Given the description of an element on the screen output the (x, y) to click on. 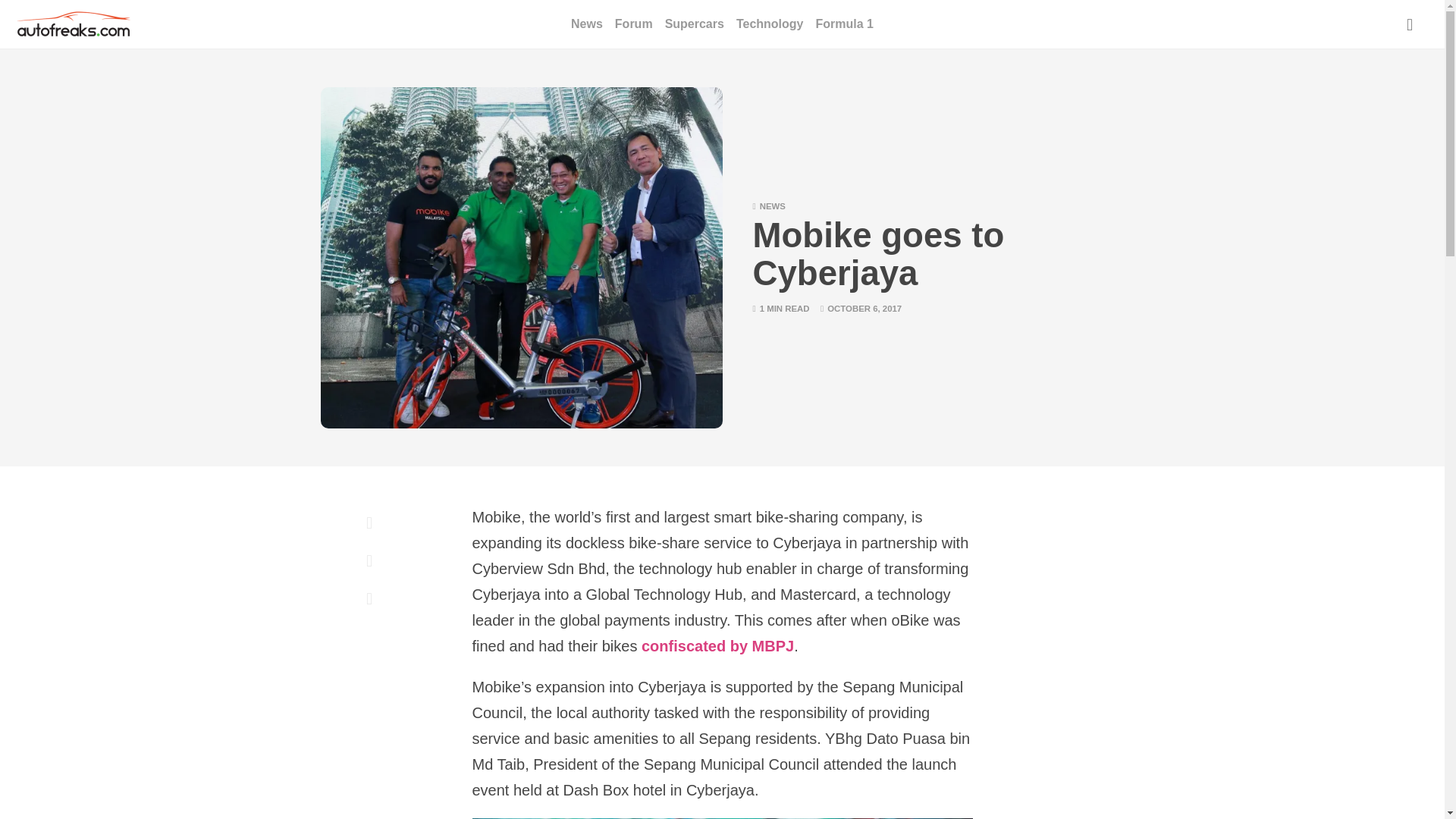
Technology (769, 24)
Formula 1 (843, 24)
Supercars (694, 24)
NEWS (773, 205)
confiscated by MBPJ (717, 647)
